Given the description of an element on the screen output the (x, y) to click on. 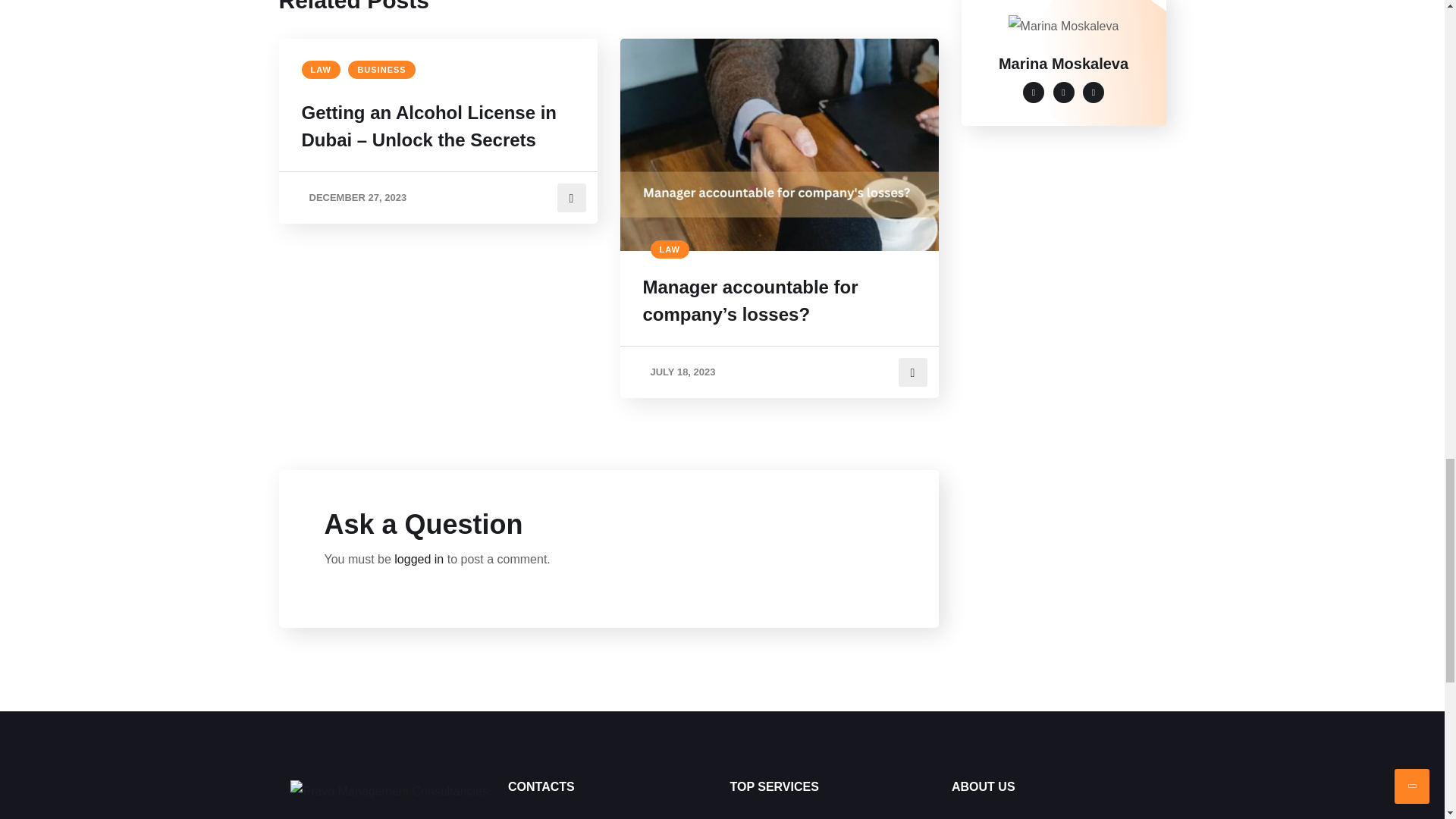
Manager accountable for company's losses? 2 (779, 144)
